Given the description of an element on the screen output the (x, y) to click on. 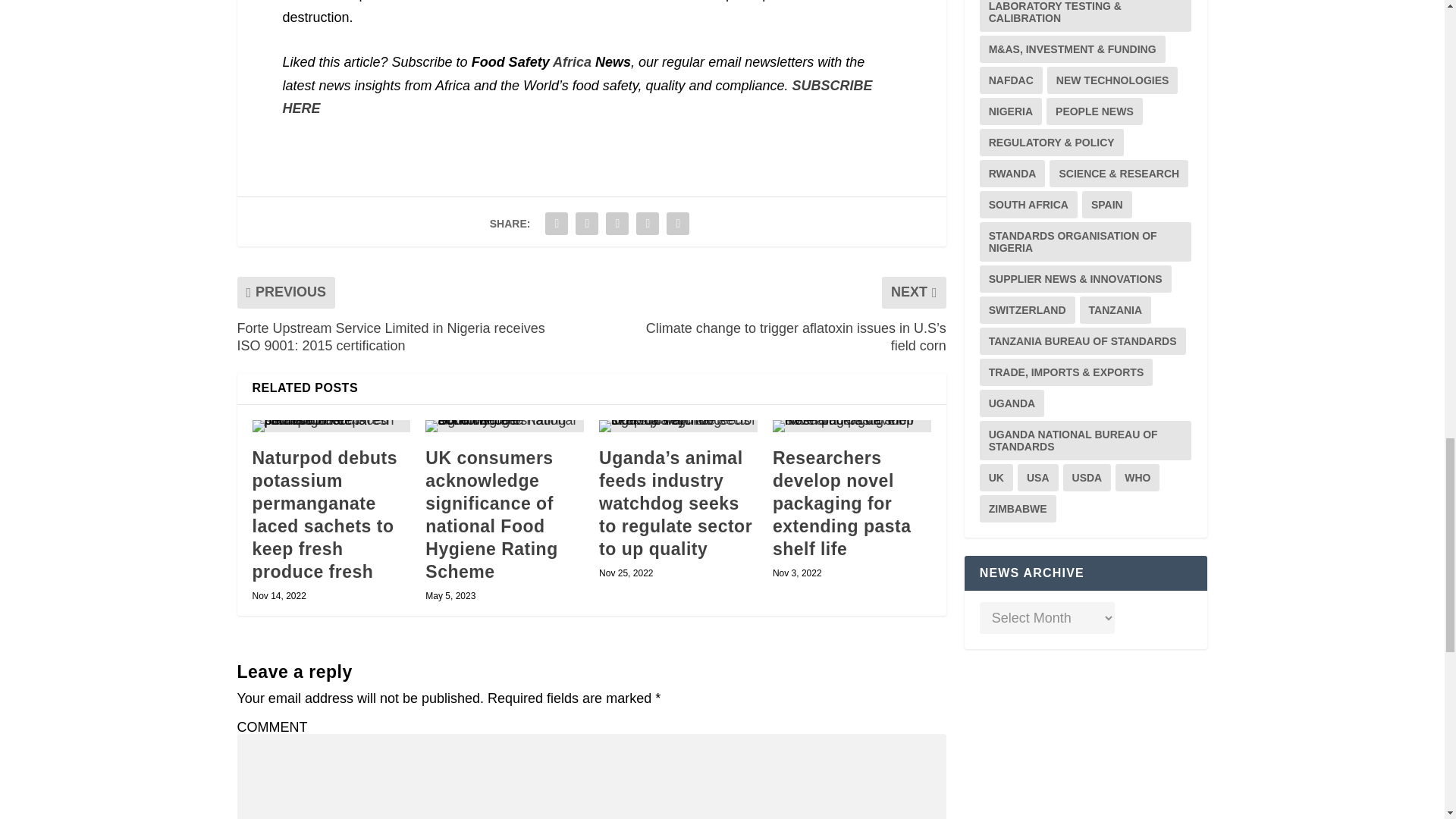
SUBSCRIBE HERE (577, 97)
Africa (572, 61)
